Given the description of an element on the screen output the (x, y) to click on. 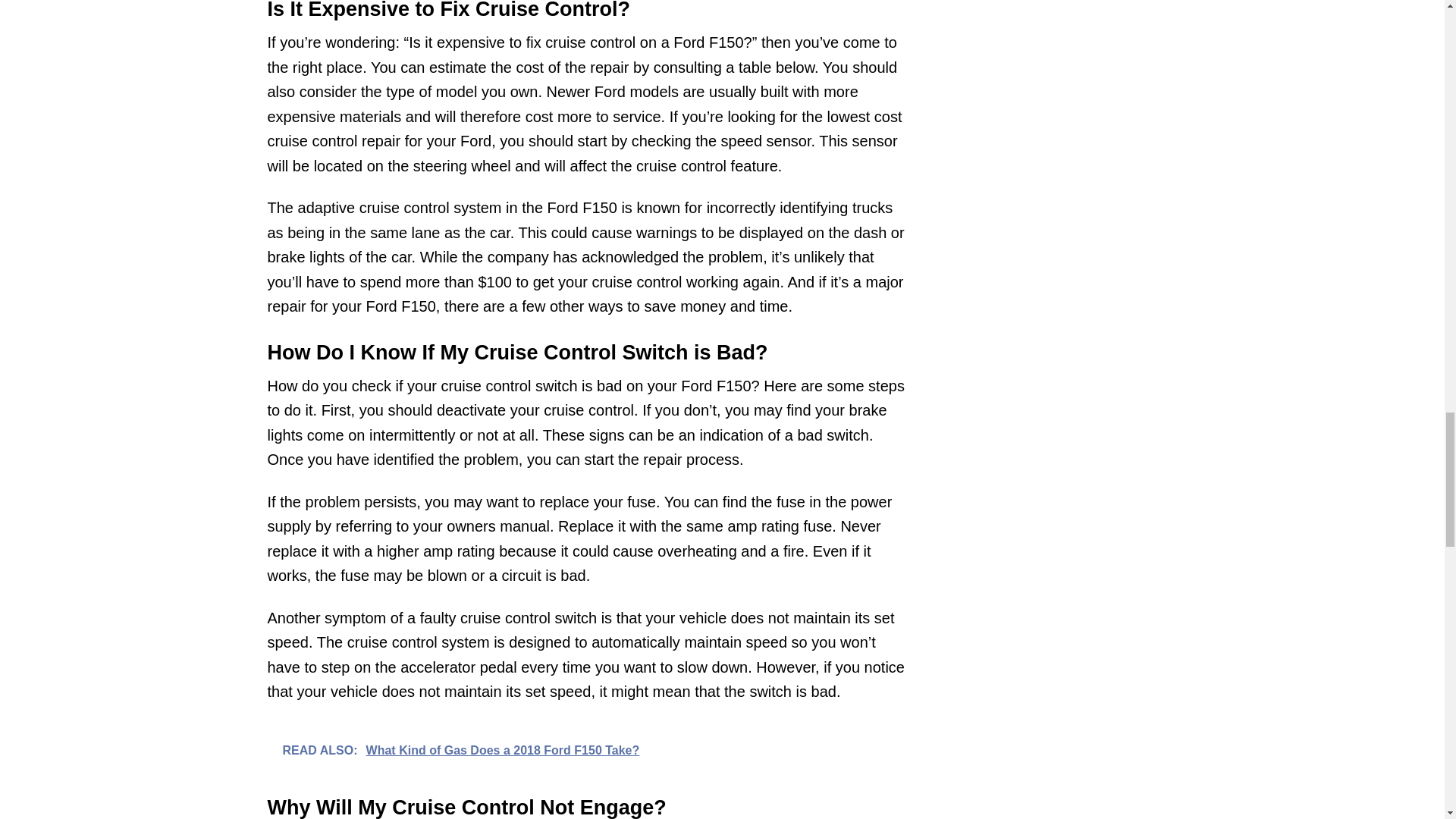
READ ALSO:  What Kind of Gas Does a 2018 Ford F150 Take? (588, 749)
